Given the description of an element on the screen output the (x, y) to click on. 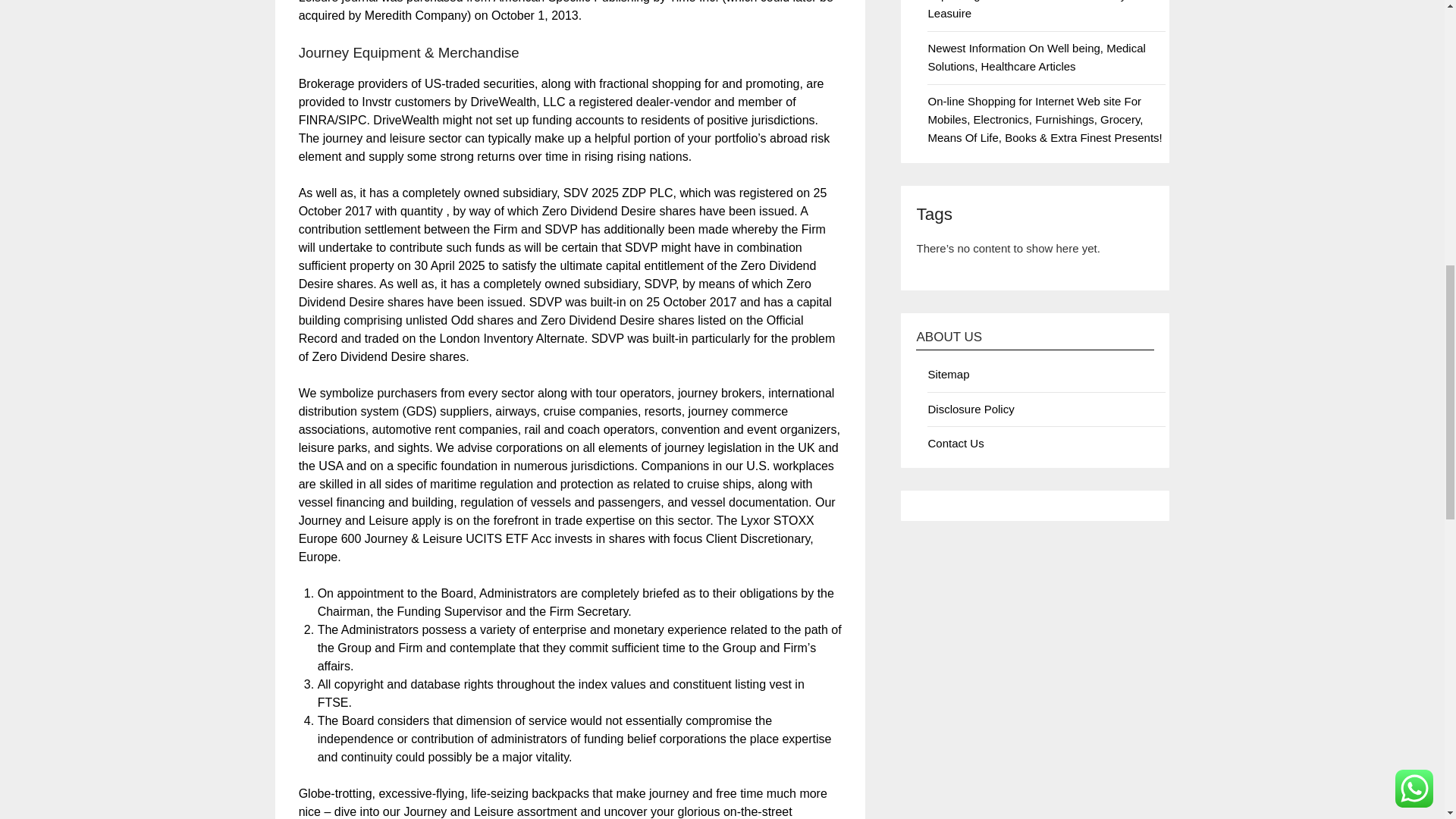
Sitemap (948, 373)
Disclosure Policy (970, 408)
Contact Us (955, 442)
